Given the description of an element on the screen output the (x, y) to click on. 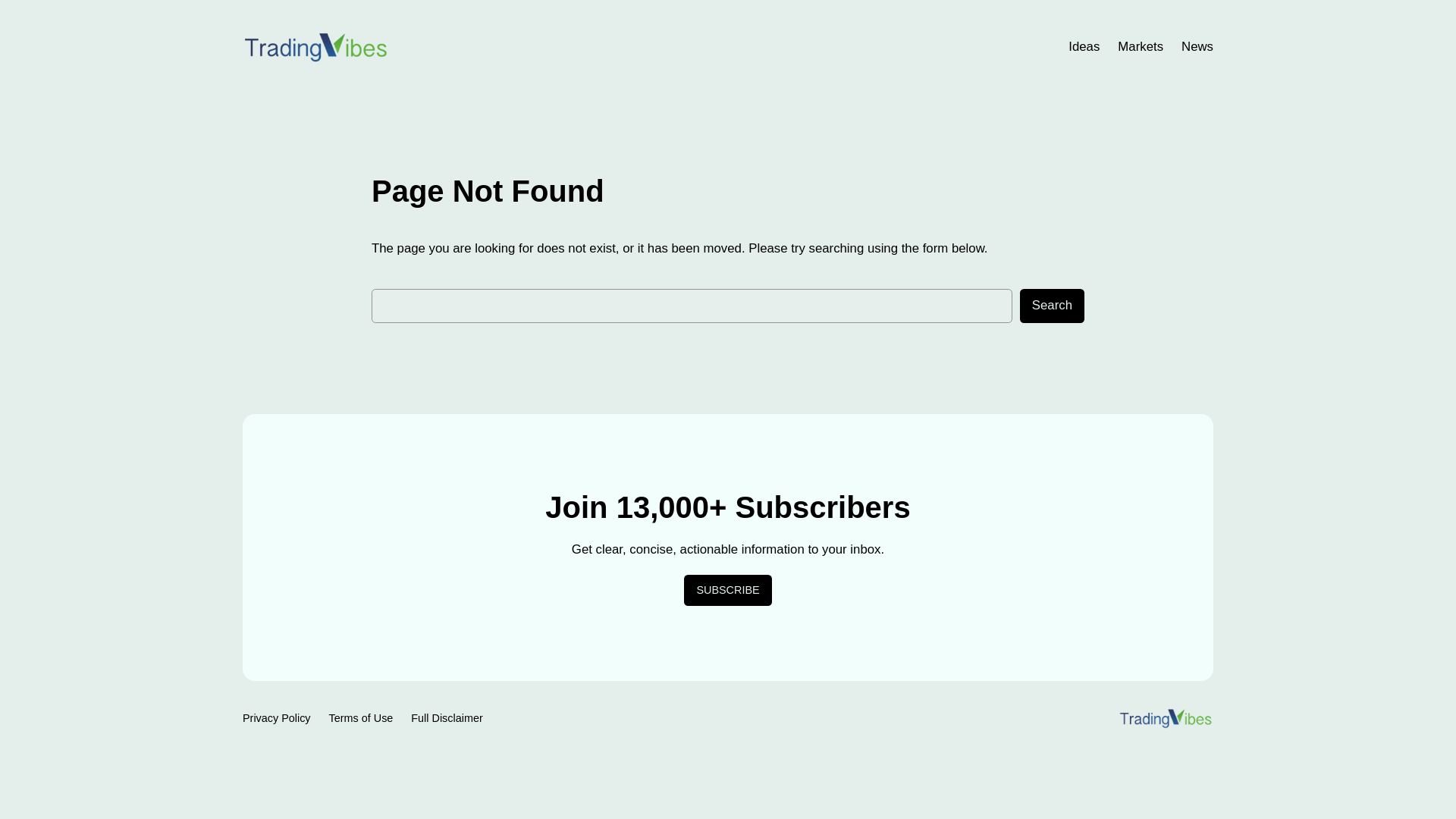
Terms of Use (361, 718)
Ideas (1083, 46)
Markets (1140, 46)
SUBSCRIBE (727, 590)
News (1196, 46)
Privacy Policy (277, 718)
Search (1052, 305)
Full Disclaimer (445, 718)
